Given the description of an element on the screen output the (x, y) to click on. 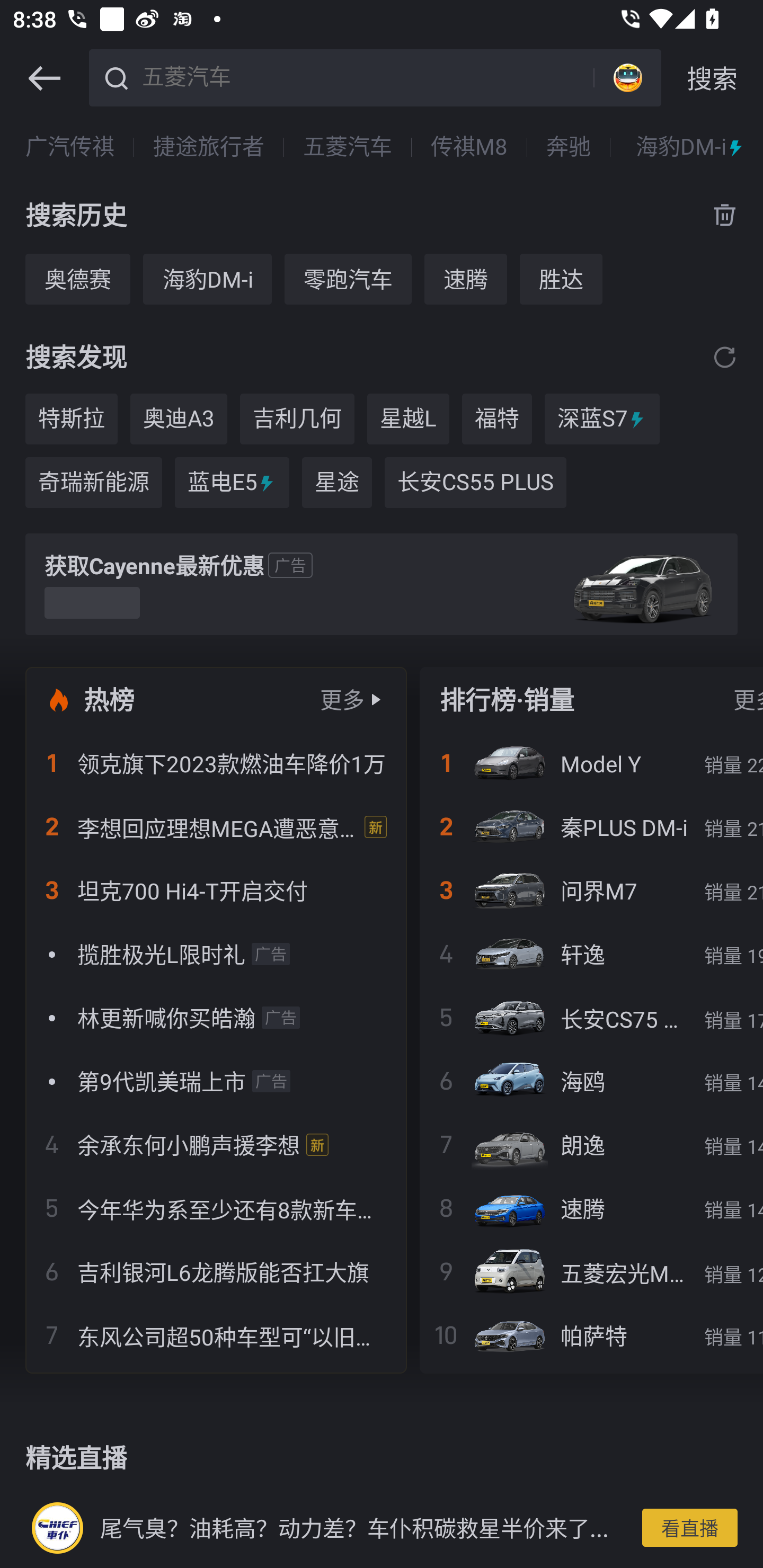
 五菱汽车 (364, 76)
 (44, 78)
搜索 (711, 78)
广汽传祺 (69, 147)
捷途旅行者 (208, 147)
五菱汽车 (347, 147)
传祺M8 (469, 147)
奔驰 (568, 147)
海豹DM-i (690, 147)
奥德赛 (77, 278)
海豹DM-i (206, 278)
零跑汽车 (347, 278)
速腾 (465, 278)
胜达 (560, 278)
 (724, 357)
特斯拉 (71, 418)
奥迪A3 (178, 418)
吉利几何 (297, 418)
星越L (408, 418)
福特 (496, 418)
深蓝S7 (601, 418)
奇瑞新能源 (93, 482)
蓝电E5 (231, 482)
星途 (337, 482)
长安CS55 PLUS (475, 482)
获取Cayenne最新优惠 广告 立享优惠 (381, 584)
更多 (341, 699)
领克旗下2023款燃油车降价1万 (215, 763)
Model Y 销量 22537 (591, 763)
李想回应理想MEGA遭恶意P图 (215, 826)
秦PLUS DM-i 销量 21268 (591, 826)
坦克700 Hi4-T开启交付 (215, 890)
问界M7 销量 21083 (591, 890)
揽胜极光L限时礼 (215, 953)
轩逸 销量 19878 (591, 953)
林更新喊你买皓瀚 (215, 1017)
长安CS75 PLUS 销量 17303 (591, 1017)
第9代凯美瑞上市 (215, 1080)
海鸥 销量 14403 (591, 1080)
余承东何小鹏声援李想 (215, 1144)
朗逸 销量 14400 (591, 1144)
今年华为系至少还有8款新车要来 (215, 1208)
速腾 销量 14209 (591, 1208)
吉利银河L6龙腾版能否扛大旗 (215, 1271)
五菱宏光MINIEV 销量 12649 (591, 1271)
东风公司超50种车型可“以旧换新” (215, 1335)
帕萨特 销量 11641 (591, 1335)
尾气臭？油耗高？动力差？车仆积碳救星半价来了... 看直播 (381, 1526)
